Given the description of an element on the screen output the (x, y) to click on. 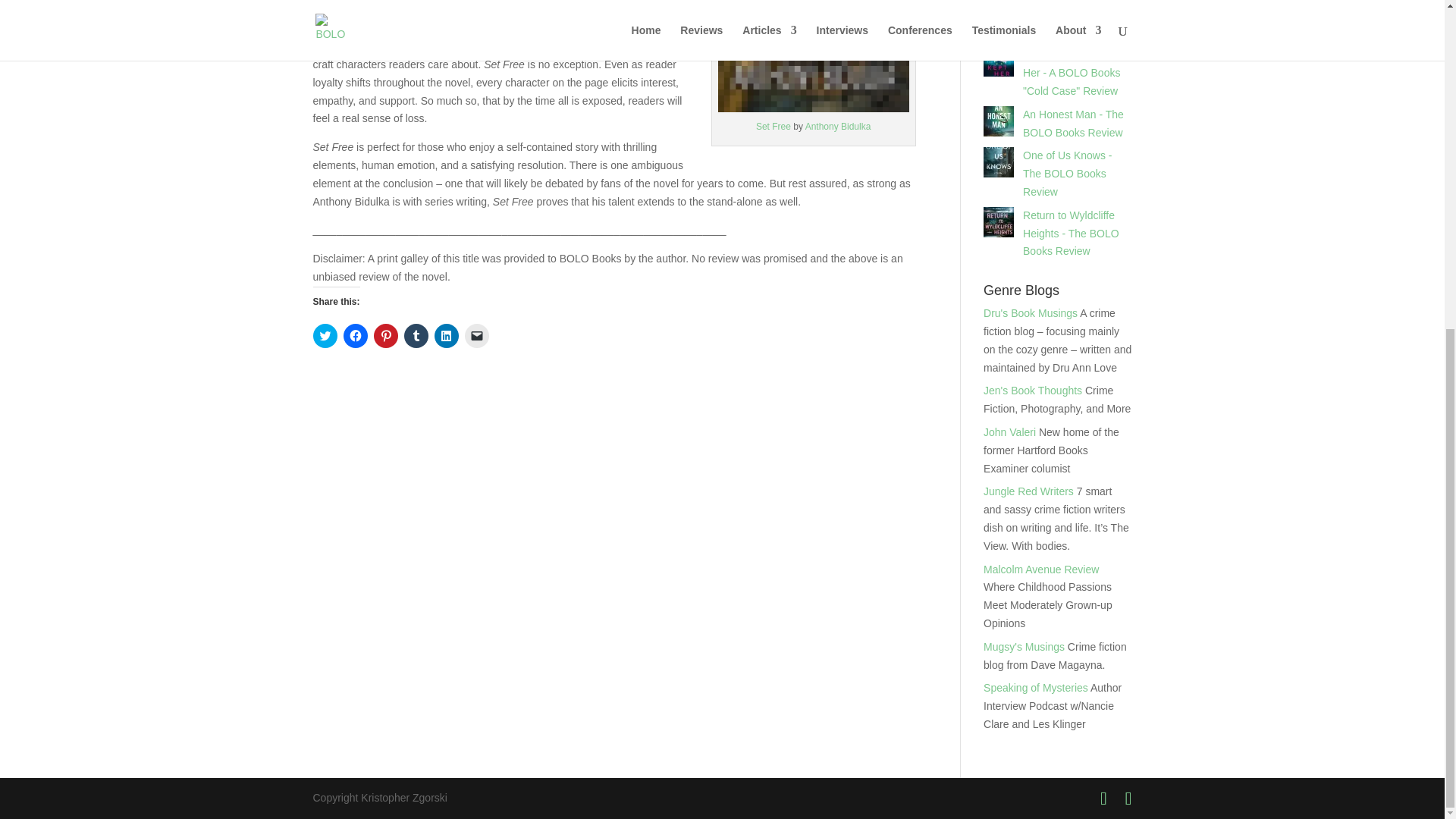
One of Us Knows - The BOLO Books Review (1067, 173)
Click to share on Pinterest (384, 335)
Nothing But The Bones - The BOLO Books Review (1068, 18)
Click to share on LinkedIn (445, 335)
Set Free (774, 126)
Click to share on Tumblr (415, 335)
Nothing But The Bones - The BOLO Books Review (1068, 18)
Click to share on Facebook (354, 335)
An Honest Man - The BOLO Books Review (1073, 123)
Return to Wyldcliffe Heights - The BOLO Books Review (1071, 233)
